Given the description of an element on the screen output the (x, y) to click on. 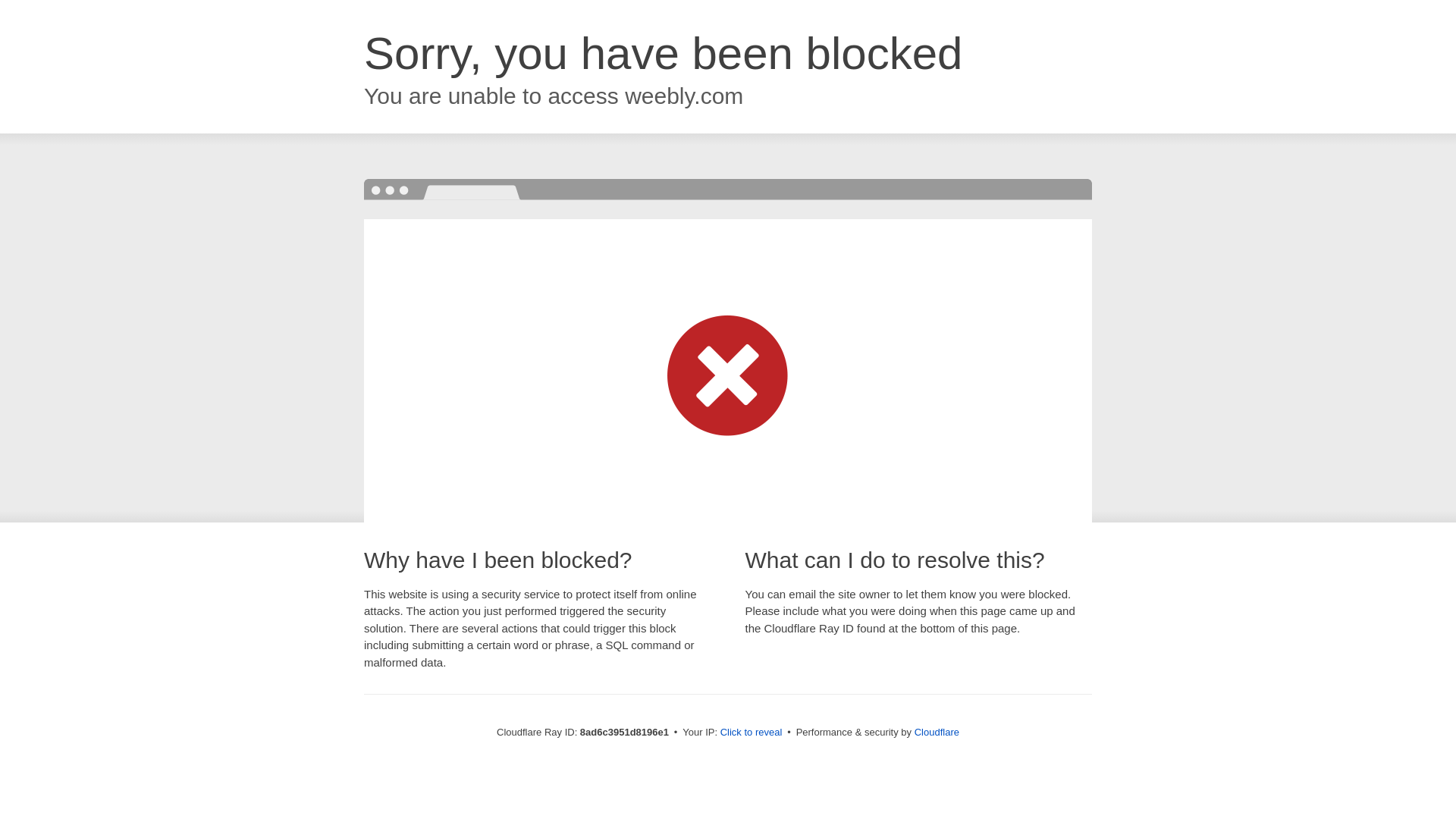
Click to reveal (751, 732)
Cloudflare (936, 731)
